Given the description of an element on the screen output the (x, y) to click on. 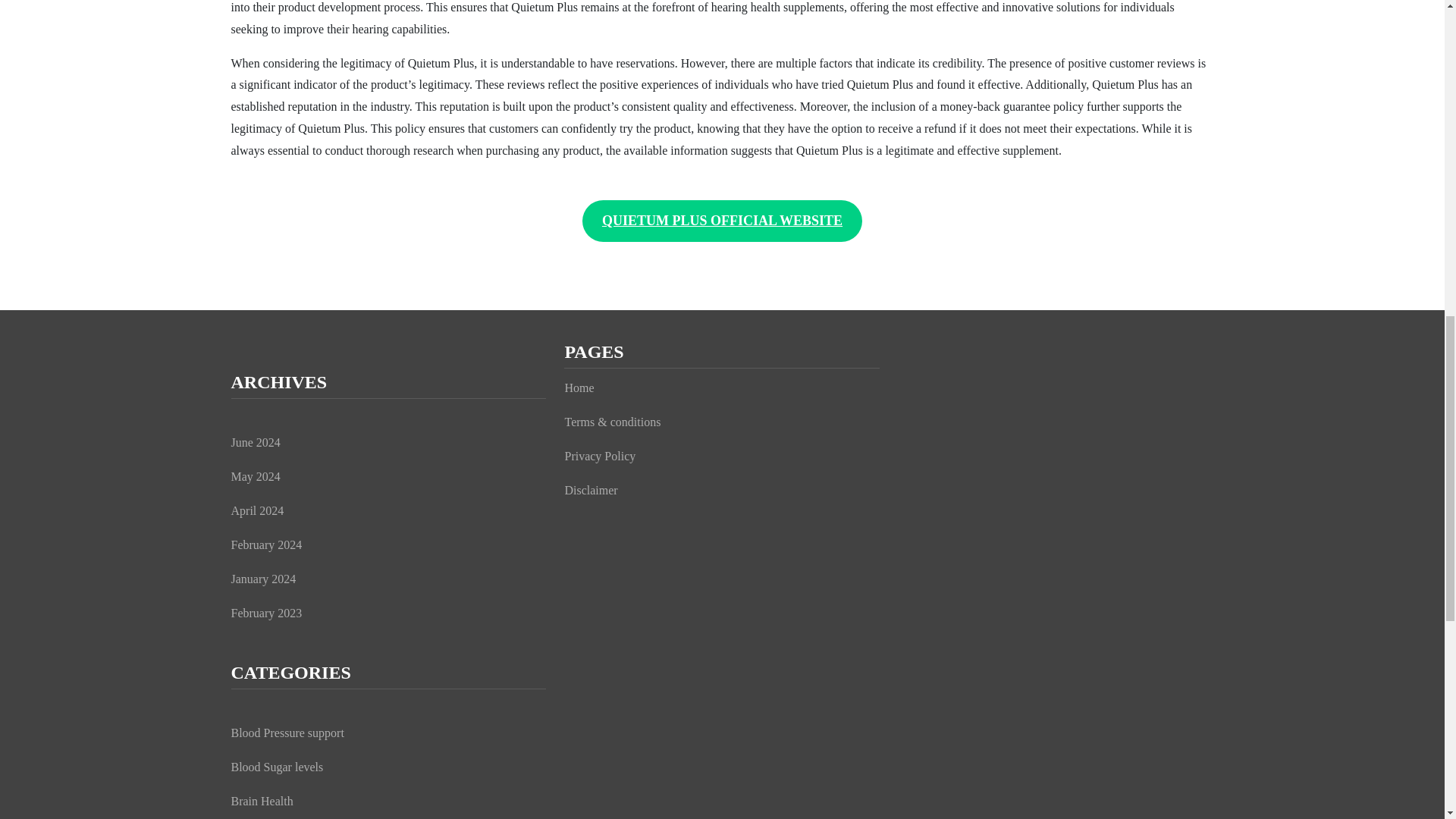
February 2024 (265, 544)
Brain Health (261, 800)
February 2023 (265, 612)
June 2024 (254, 441)
April 2024 (256, 510)
Blood Pressure support (286, 732)
January 2024 (262, 578)
Blood Sugar levels (276, 766)
QUIETUM PLUS OFFICIAL WEBSITE (721, 220)
May 2024 (254, 476)
